Given the description of an element on the screen output the (x, y) to click on. 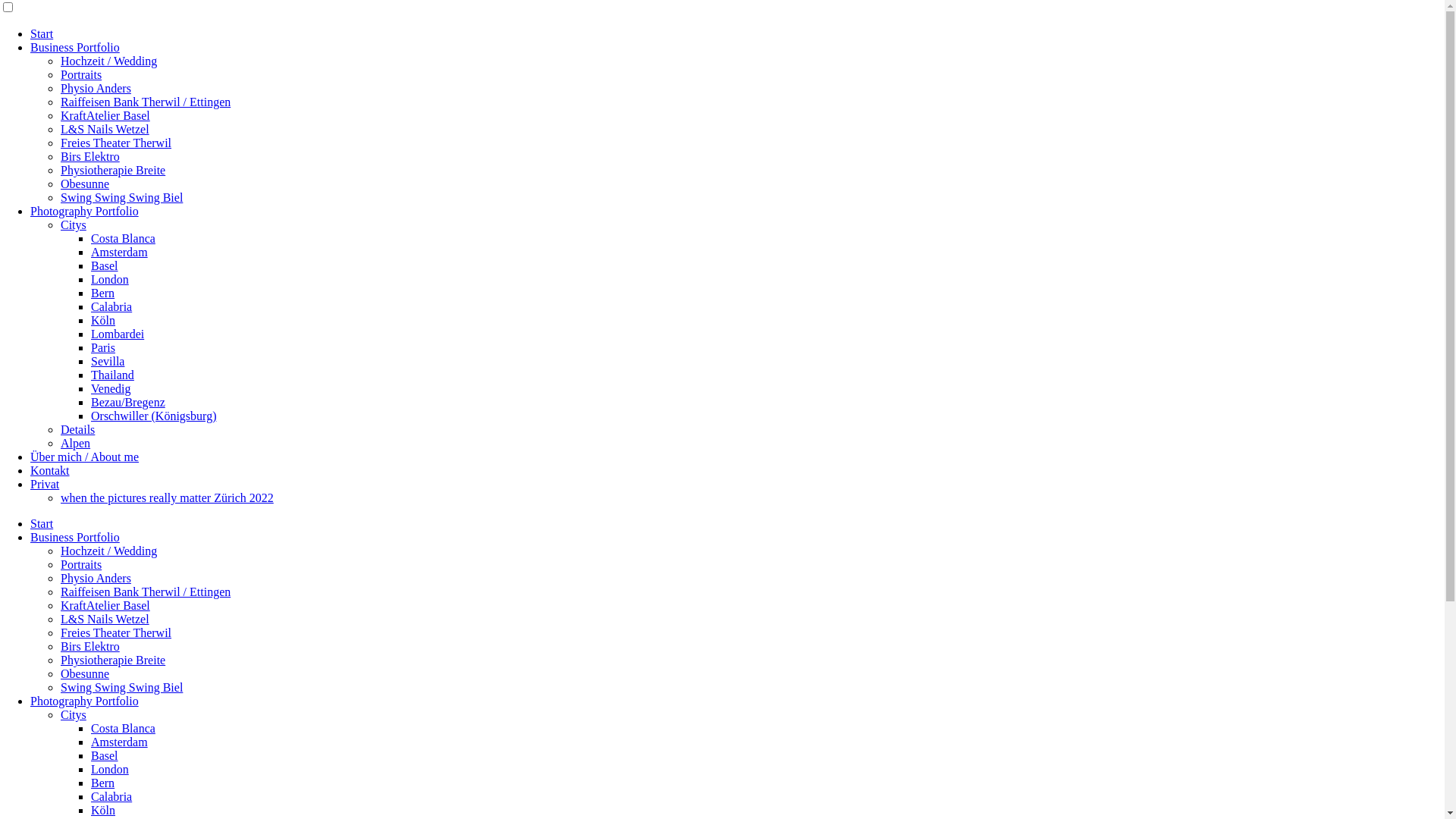
Physio Anders Element type: text (95, 87)
Costa Blanca Element type: text (123, 727)
Basel Element type: text (104, 755)
Bern Element type: text (102, 782)
London Element type: text (109, 279)
Birs Elektro Element type: text (89, 646)
KraftAtelier Basel Element type: text (105, 115)
Costa Blanca Element type: text (123, 238)
Citys Element type: text (73, 714)
Basel Element type: text (104, 265)
Start Element type: text (41, 33)
Thailand Element type: text (112, 374)
Amsterdam Element type: text (119, 251)
Obesunne Element type: text (84, 183)
Privat Element type: text (44, 483)
L&S Nails Wetzel Element type: text (104, 618)
Sevilla Element type: text (107, 360)
KraftAtelier Basel Element type: text (105, 605)
Start Element type: text (41, 523)
Freies Theater Therwil Element type: text (115, 142)
Business Portfolio Element type: text (74, 46)
Amsterdam Element type: text (119, 741)
Freies Theater Therwil Element type: text (115, 632)
Swing Swing Swing Biel Element type: text (121, 686)
Calabria Element type: text (111, 306)
Kontakt Element type: text (49, 470)
Birs Elektro Element type: text (89, 156)
Portraits Element type: text (80, 74)
Bern Element type: text (102, 292)
Swing Swing Swing Biel Element type: text (121, 197)
L&S Nails Wetzel Element type: text (104, 128)
Photography Portfolio Element type: text (84, 700)
Business Portfolio Element type: text (74, 536)
London Element type: text (109, 768)
Lombardei Element type: text (117, 333)
Citys Element type: text (73, 224)
Details Element type: text (77, 429)
Bezau/Bregenz Element type: text (128, 401)
Physiotherapie Breite Element type: text (112, 659)
Photography Portfolio Element type: text (84, 210)
Obesunne Element type: text (84, 673)
Calabria Element type: text (111, 796)
Paris Element type: text (103, 347)
Alpen Element type: text (75, 442)
Hochzeit / Wedding Element type: text (108, 60)
Hochzeit / Wedding Element type: text (108, 550)
Raiffeisen Bank Therwil / Ettingen Element type: text (145, 101)
Venedig Element type: text (110, 388)
Physio Anders Element type: text (95, 577)
Portraits Element type: text (80, 564)
Raiffeisen Bank Therwil / Ettingen Element type: text (145, 591)
Physiotherapie Breite Element type: text (112, 169)
